Given the description of an element on the screen output the (x, y) to click on. 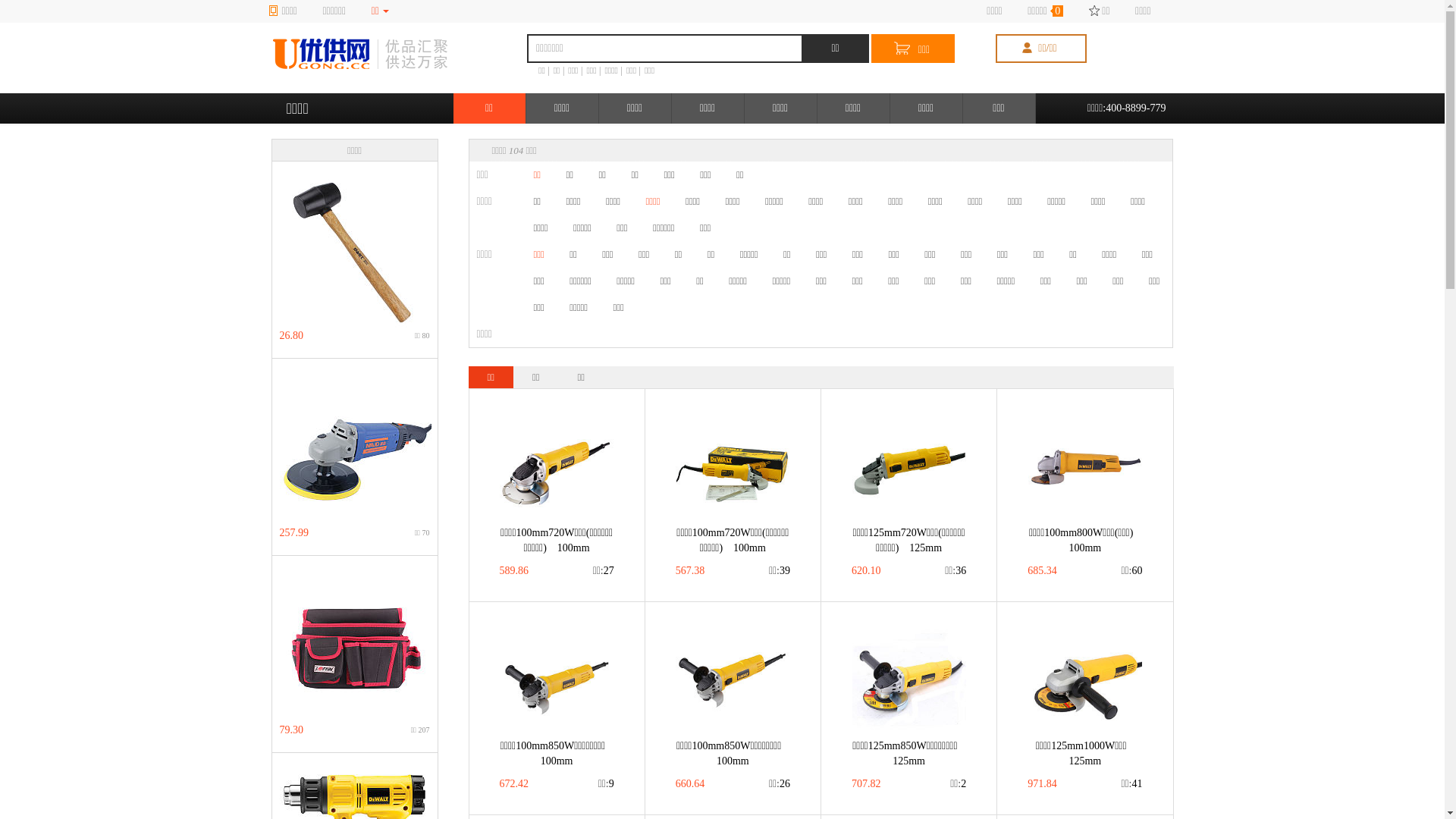
685.34 Element type: text (1042, 570)
27 Element type: text (603, 570)
26 Element type: text (779, 783)
707.82 Element type: text (866, 783)
589.86 Element type: text (513, 570)
660.64 Element type: text (690, 783)
39 Element type: text (779, 570)
60 Element type: text (1131, 570)
620.10 Element type: text (866, 570)
672.42 Element type: text (513, 783)
2 Element type: text (958, 783)
567.38 Element type: text (690, 570)
41 Element type: text (1131, 783)
971.84 Element type: text (1042, 783)
9 Element type: text (606, 783)
36 Element type: text (955, 570)
